Given the description of an element on the screen output the (x, y) to click on. 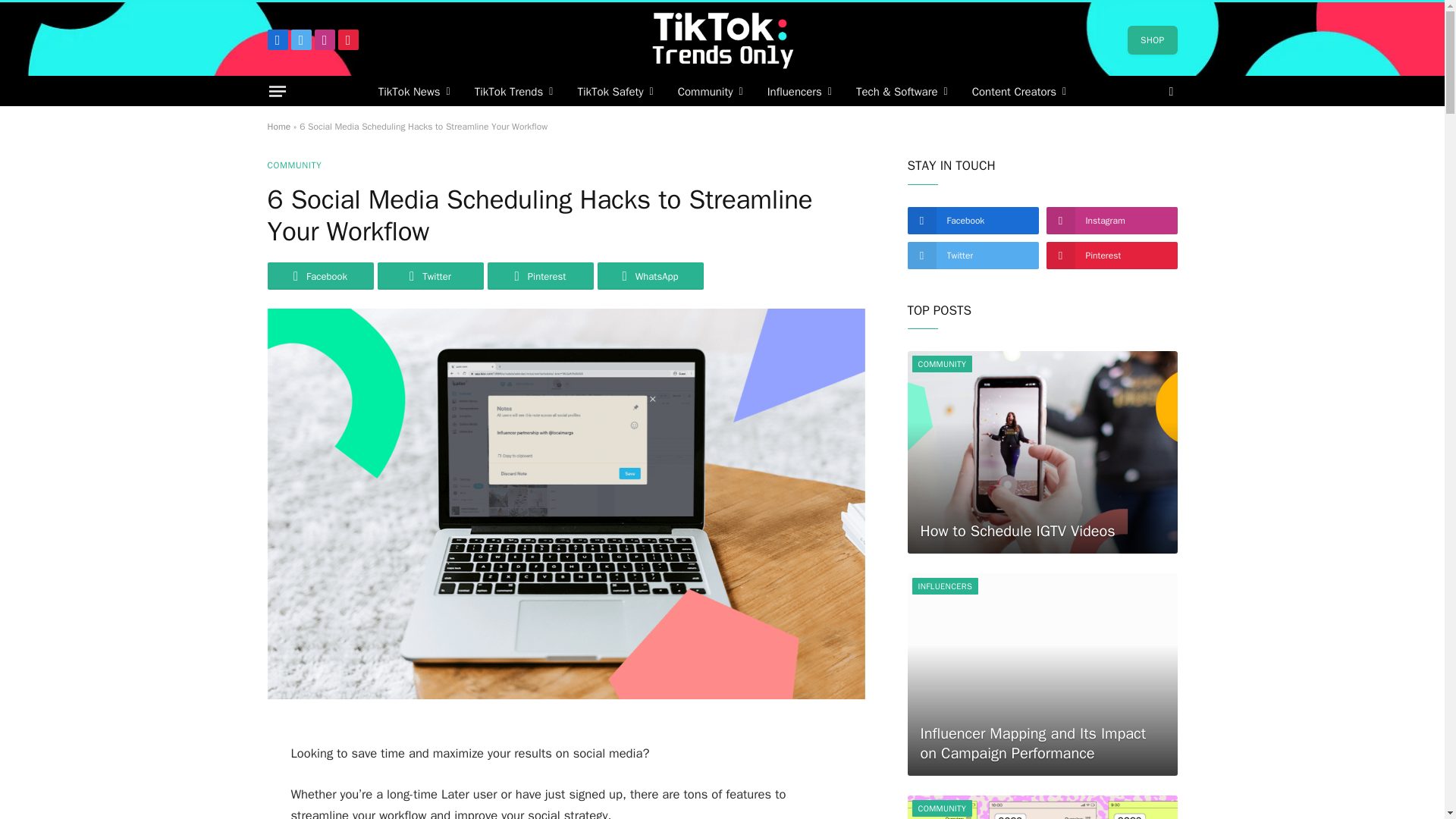
Pinterest (347, 39)
Instagram (324, 39)
TikTok News (414, 91)
TikTok Trends Only (721, 39)
SHOP (1151, 39)
TikTok Trends (514, 91)
Facebook (276, 39)
